Given the description of an element on the screen output the (x, y) to click on. 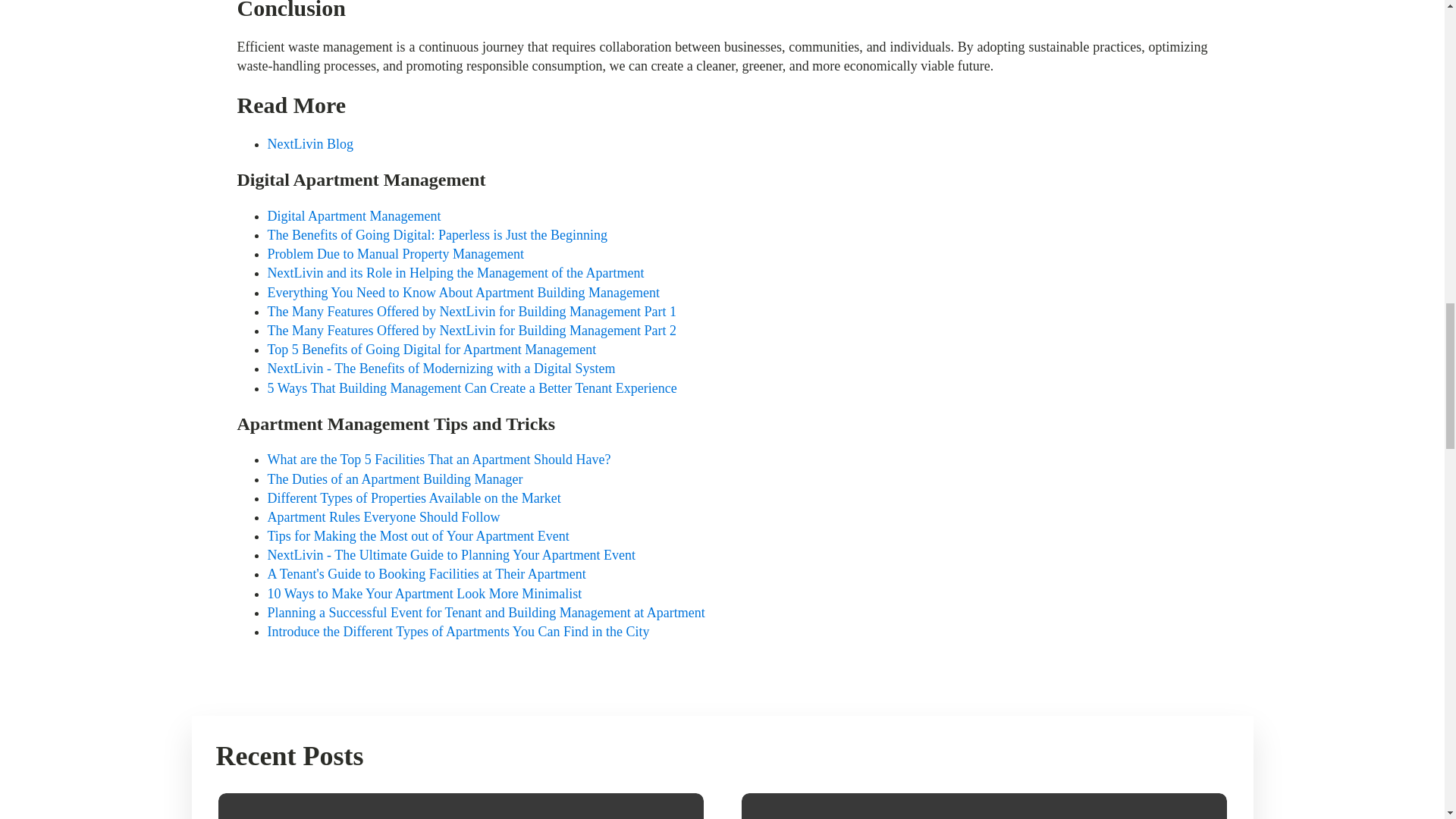
Problem Due to Manual Property Management (394, 253)
Apartment Rules Everyone Should Follow (382, 516)
A Tenant's Guide to Booking Facilities at Their Apartment (425, 573)
Different Types of Properties Available on the Market (413, 498)
Digital Apartment Management (353, 215)
